Given the description of an element on the screen output the (x, y) to click on. 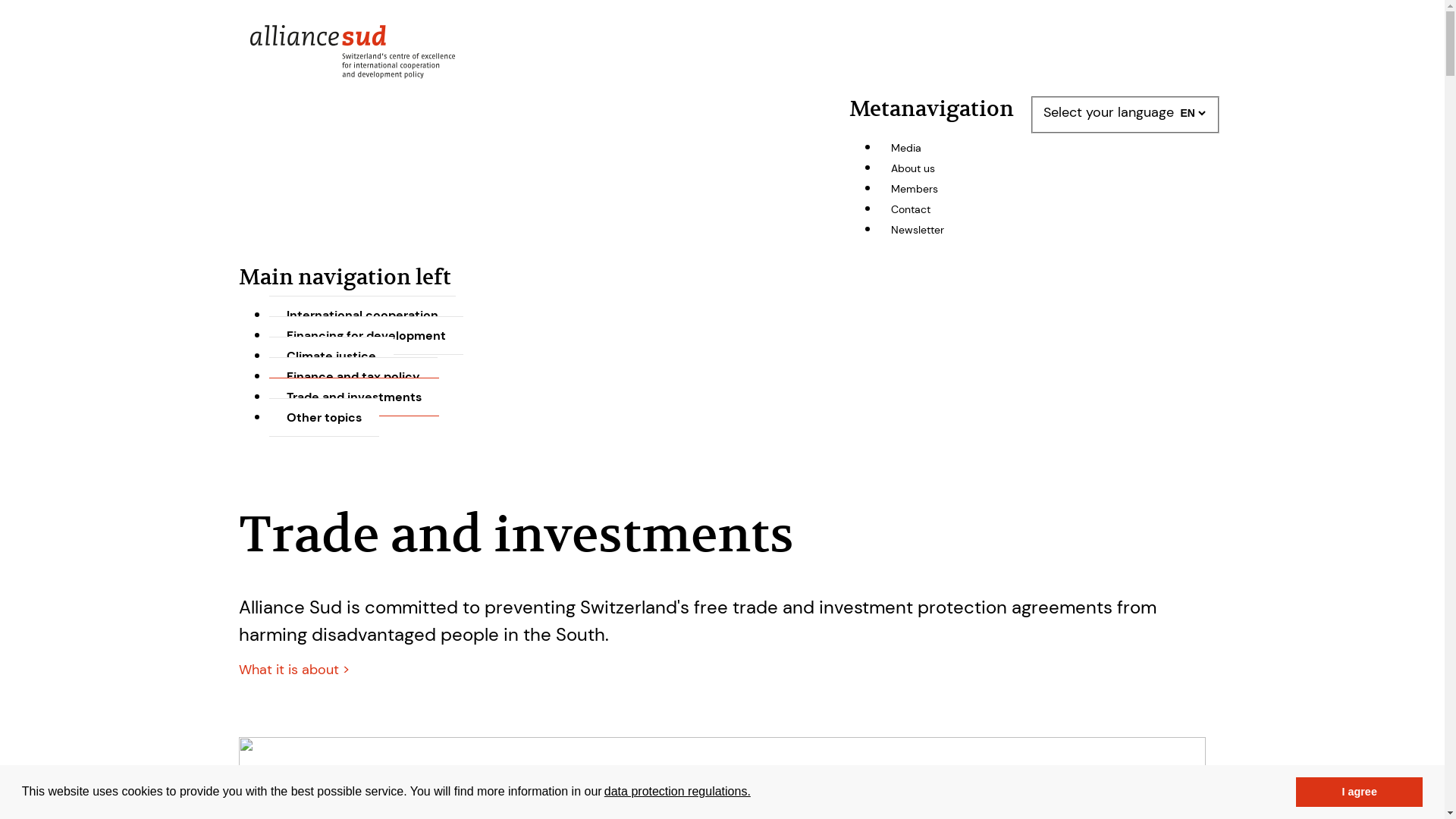
Contact Element type: text (910, 209)
I agree Element type: text (1358, 791)
Homepage Element type: hover (356, 74)
data protection regulations. Element type: text (677, 791)
About us Element type: text (912, 168)
Media Element type: text (905, 147)
Financing for development Element type: text (366, 335)
Newsletter Element type: text (917, 229)
Climate justice Element type: text (331, 355)
Members Element type: text (914, 188)
Other topics Element type: text (324, 417)
International cooperation Element type: text (362, 314)
Trade and investments Element type: text (354, 396)
What it is about > Element type: text (293, 669)
Skip to main content Element type: text (722, 7)
Finance and tax policy Element type: text (353, 376)
Logo Alliance Sud Element type: hover (356, 51)
